Given the description of an element on the screen output the (x, y) to click on. 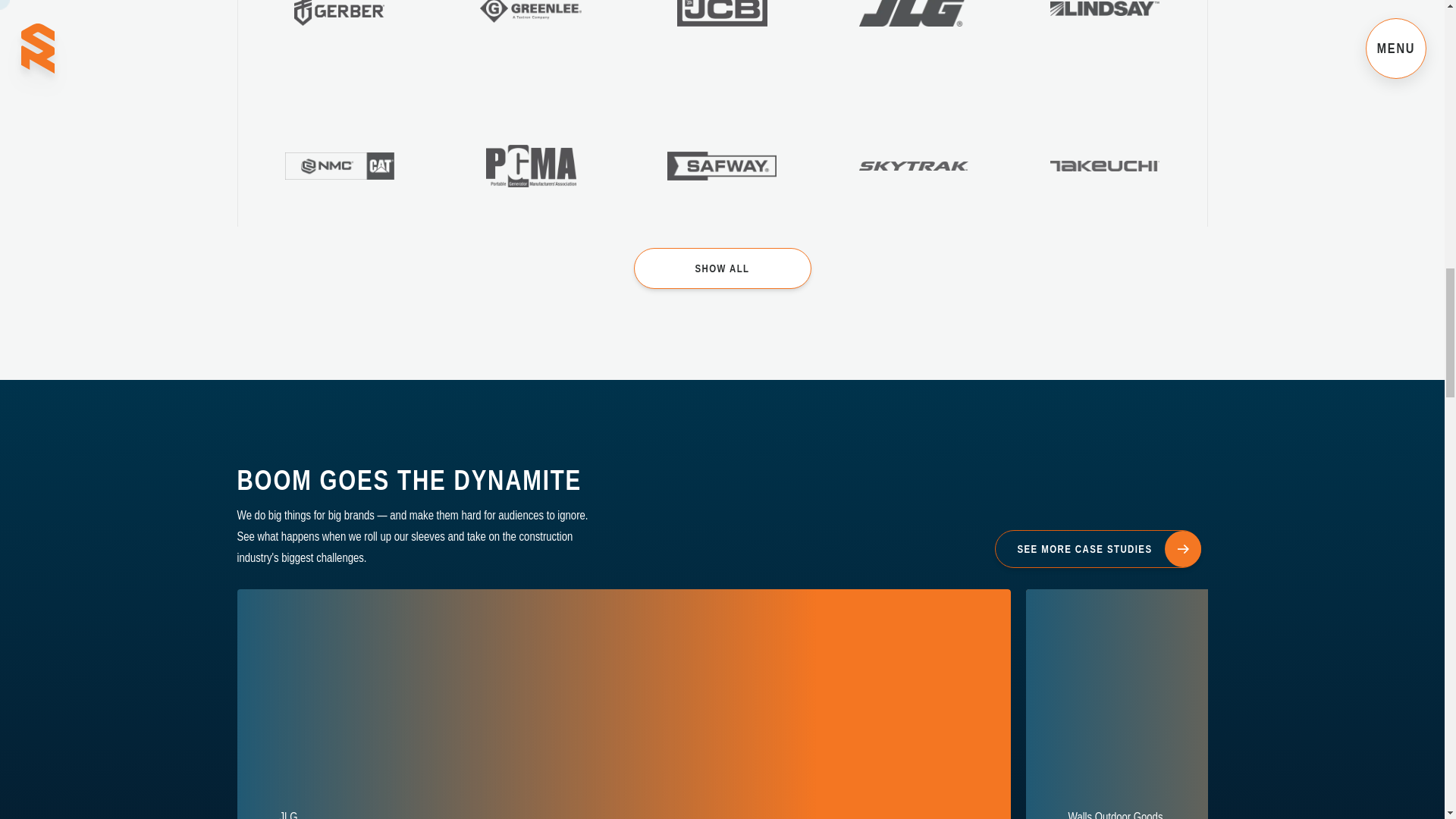
SEE MORE CASE STUDIES (1097, 548)
SHOW ALL (721, 267)
SEE MORE CASE STUDIES (1097, 549)
